Given the description of an element on the screen output the (x, y) to click on. 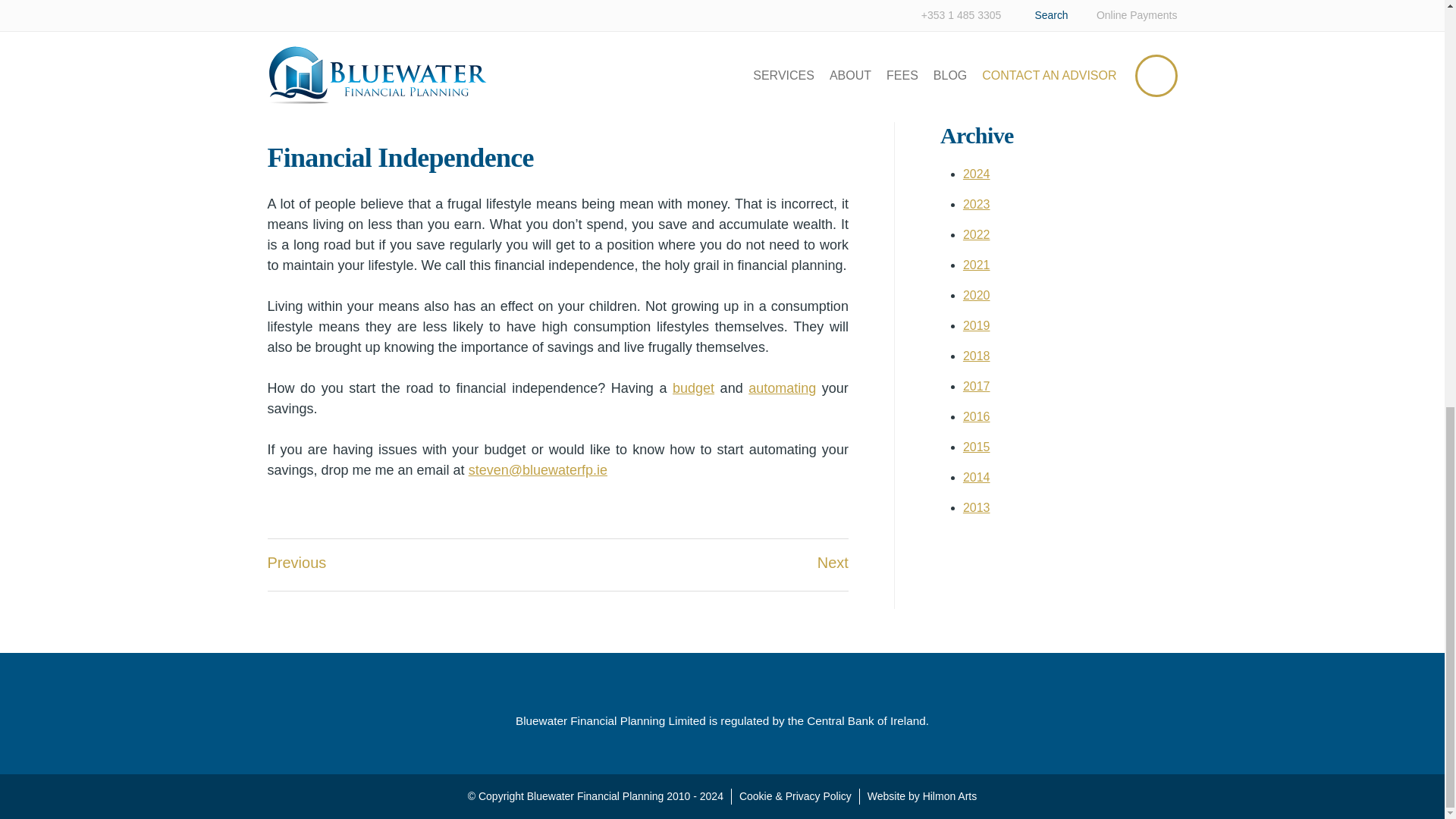
2023 (976, 204)
2024 (976, 173)
Sign Me Up! (994, 77)
automating (781, 387)
budget (693, 387)
2022 (976, 234)
Previous (296, 562)
